Given the description of an element on the screen output the (x, y) to click on. 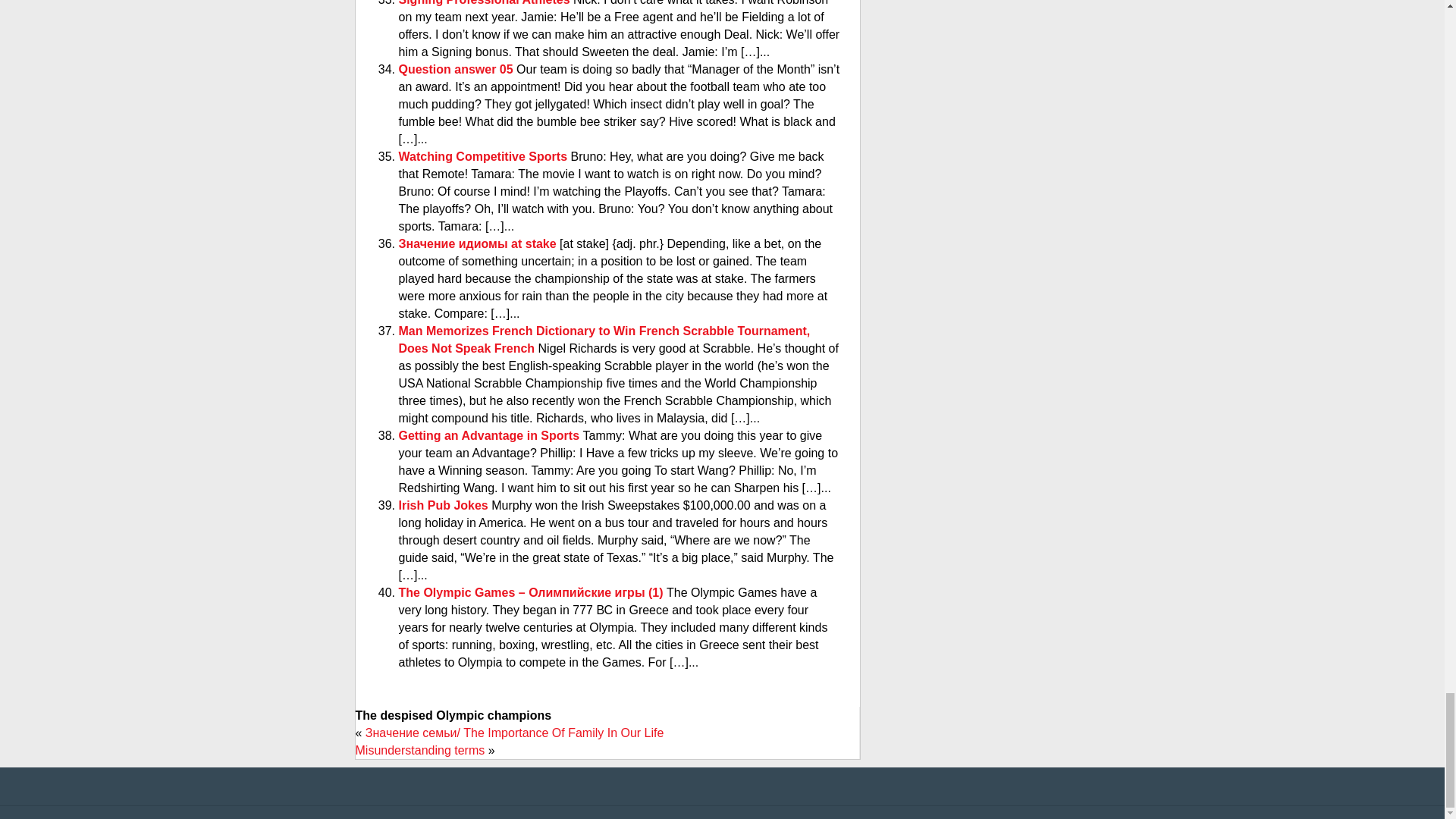
Question answer 05 (457, 69)
Watching Competitive Sports (484, 155)
Signing Professional Athletes (485, 2)
